Given the description of an element on the screen output the (x, y) to click on. 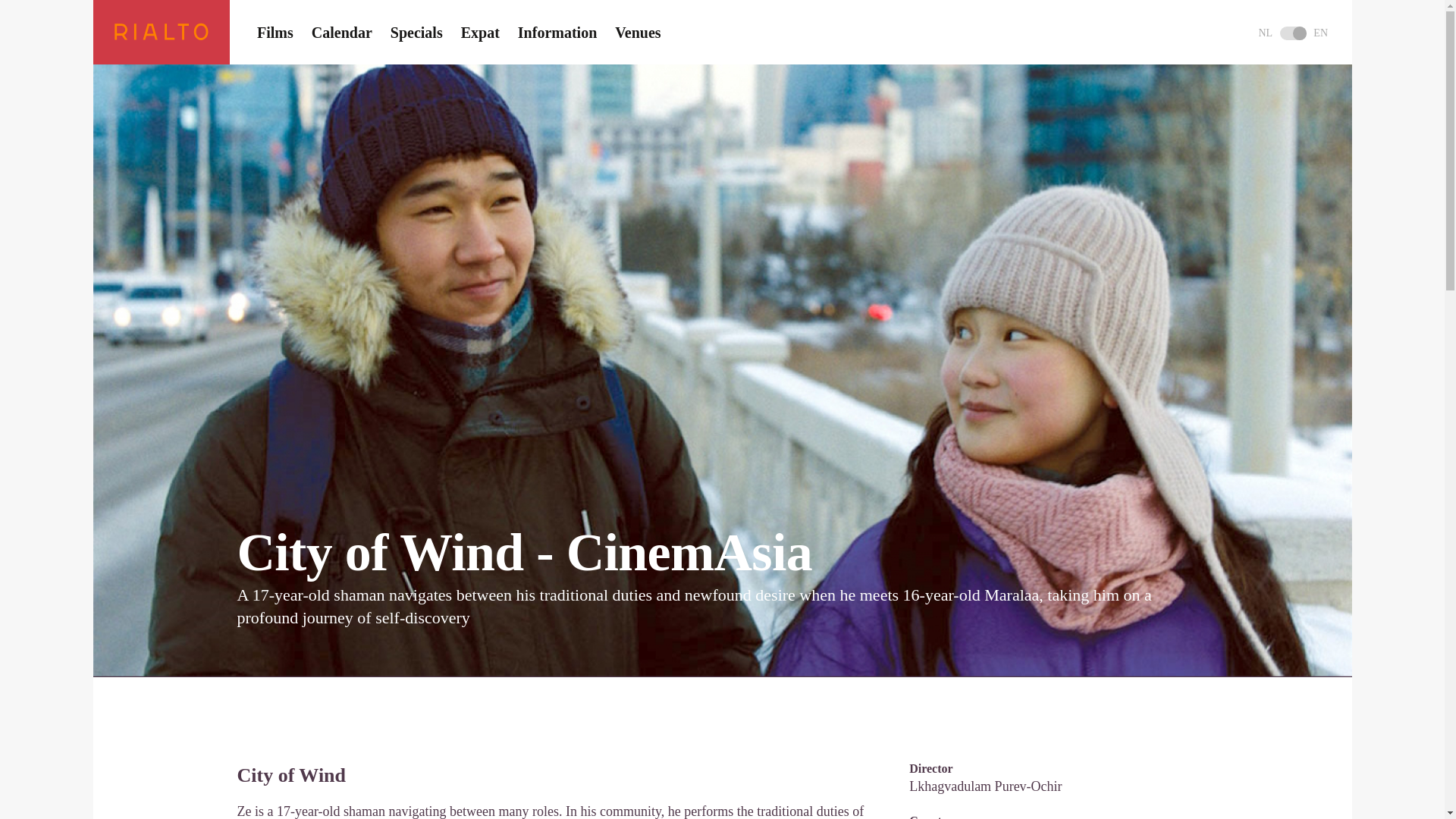
Specials (416, 31)
Calendar (341, 31)
Expat (479, 31)
Venues (637, 31)
Information (555, 31)
Films (274, 31)
